Given the description of an element on the screen output the (x, y) to click on. 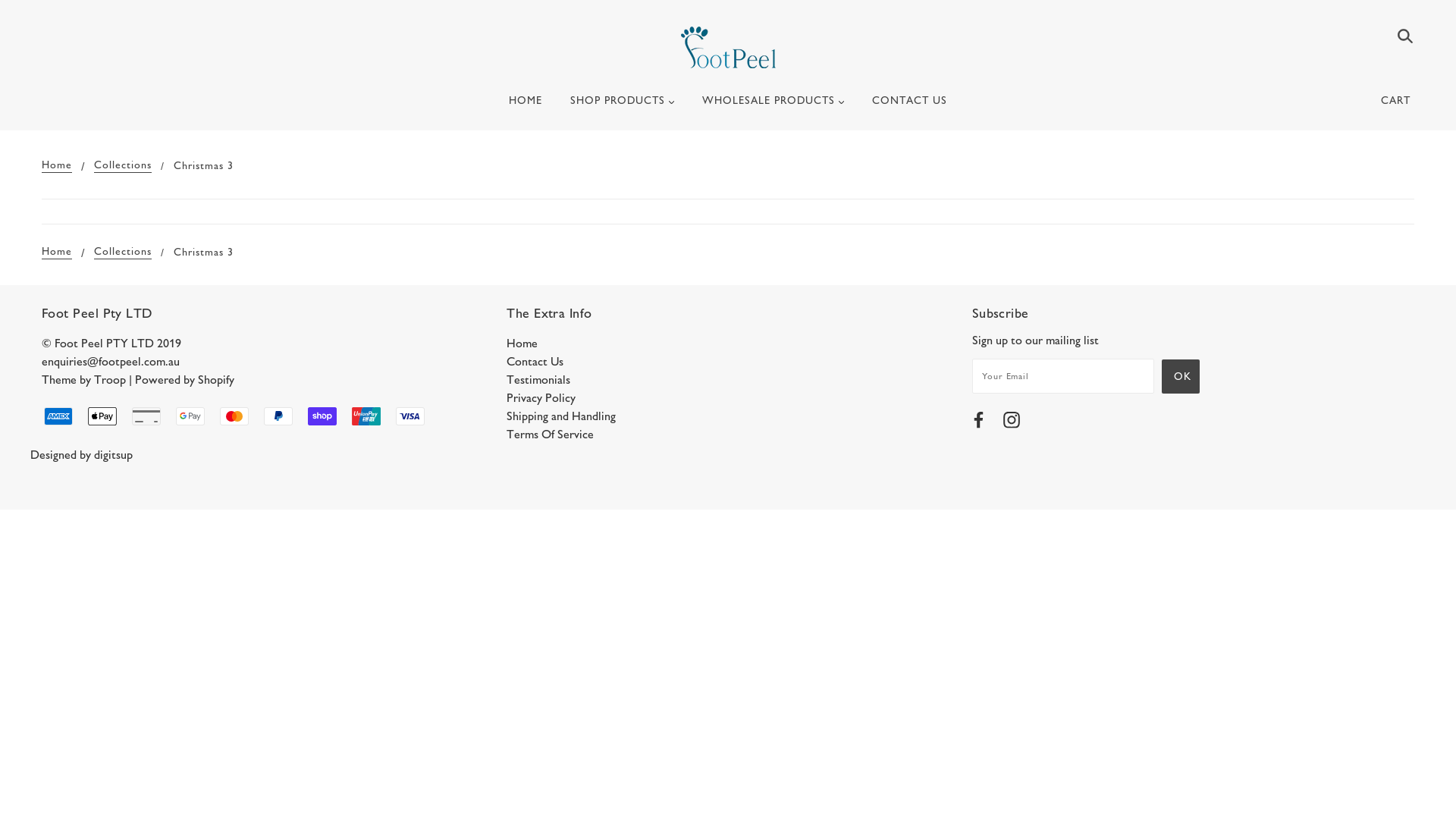
WHOLESALE PRODUCTS Element type: text (773, 106)
Shipping and Handling Element type: text (560, 415)
Home Element type: text (56, 251)
SHOP PRODUCTS Element type: text (622, 106)
Theme by Troop Element type: text (83, 379)
CONTACT US Element type: text (909, 106)
CART Element type: text (1398, 100)
HOME Element type: text (525, 106)
Privacy Policy Element type: text (540, 397)
Collections Element type: text (122, 165)
Foot Peel Element type: hover (727, 47)
Terms Of Service Element type: text (549, 433)
Powered by Shopify Element type: text (184, 379)
Home Element type: text (521, 342)
Collections Element type: text (122, 251)
Home Element type: text (56, 165)
Ok Element type: text (1180, 376)
Contact Us Element type: text (534, 361)
digitsup Element type: text (113, 454)
Testimonials Element type: text (538, 379)
